Given the description of an element on the screen output the (x, y) to click on. 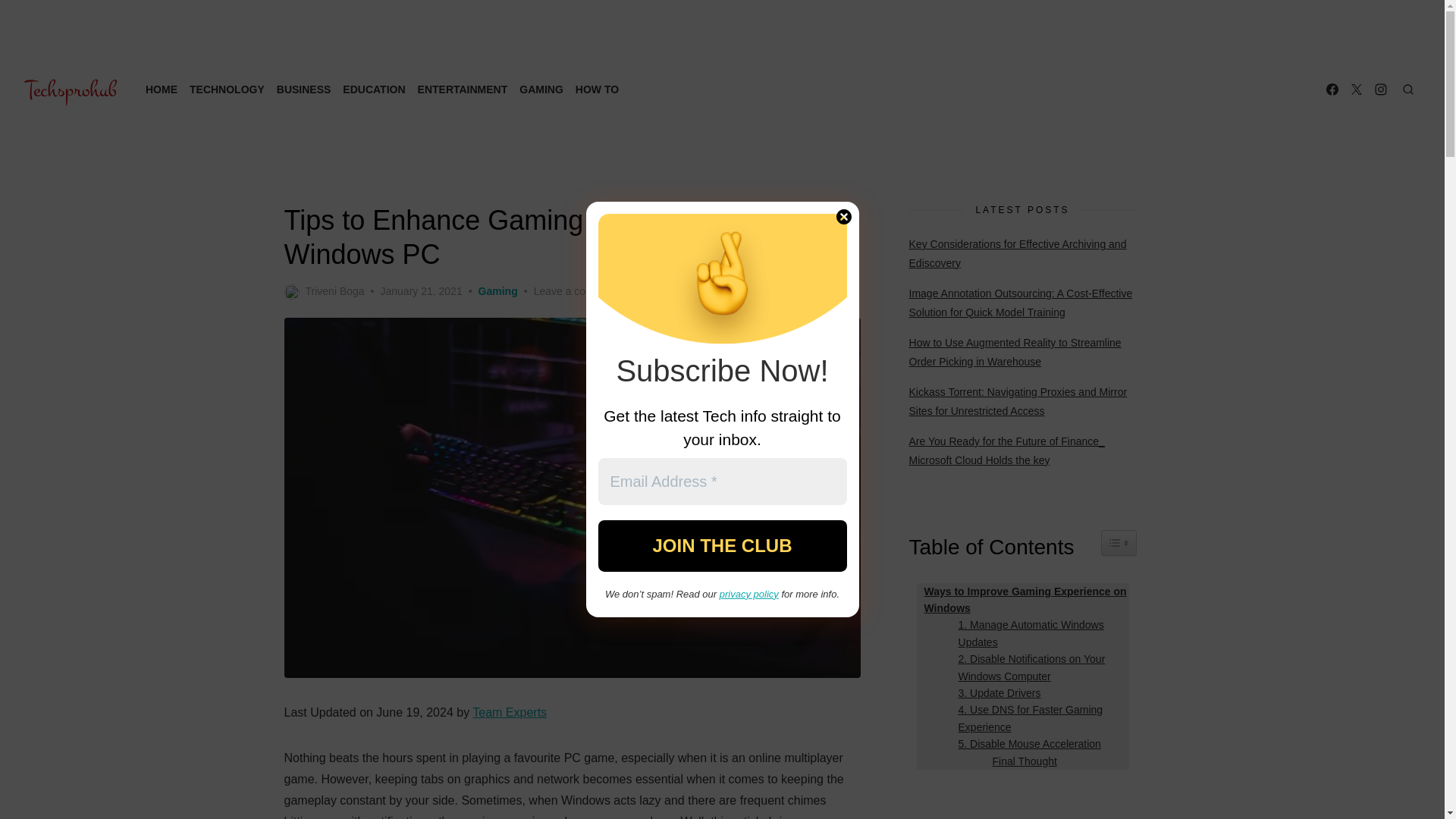
January 21, 2021 (420, 291)
BUSINESS (303, 88)
Gaming (498, 291)
1. Manage Automatic Windows Updates (1039, 633)
GAMING (541, 88)
ENTERTAINMENT (462, 88)
2. Disable Notifications on Your Windows Computer (1039, 667)
Leave a comment (575, 291)
Final Thought (1021, 760)
TECHNOLOGY (226, 88)
EDUCATION (373, 88)
5. Disable Mouse Acceleration (1025, 743)
4. Use DNS for Faster Gaming Experience (1039, 718)
3. Update Drivers (995, 692)
HOW TO (596, 88)
